Given the description of an element on the screen output the (x, y) to click on. 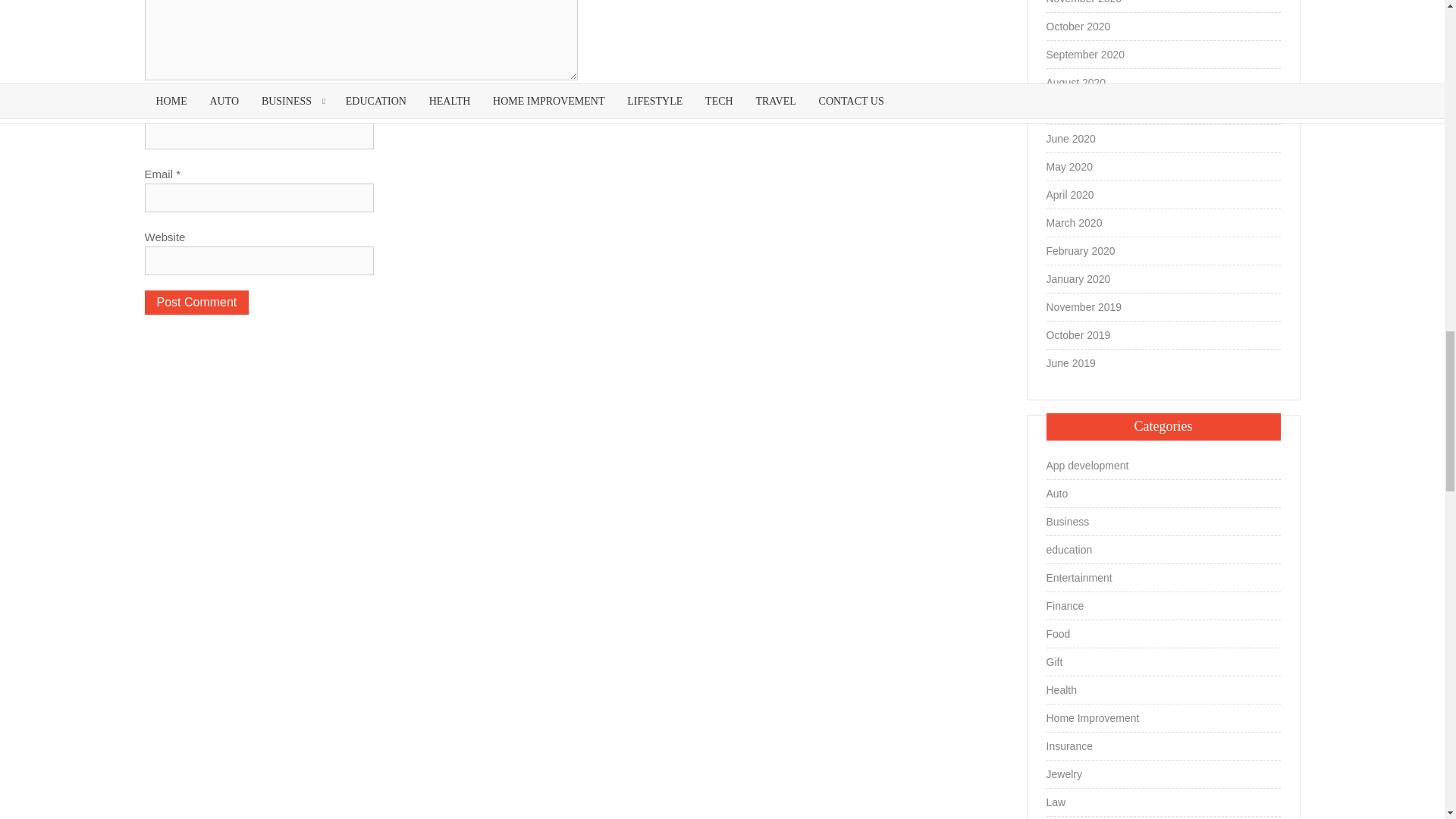
Post Comment (196, 302)
